Given the description of an element on the screen output the (x, y) to click on. 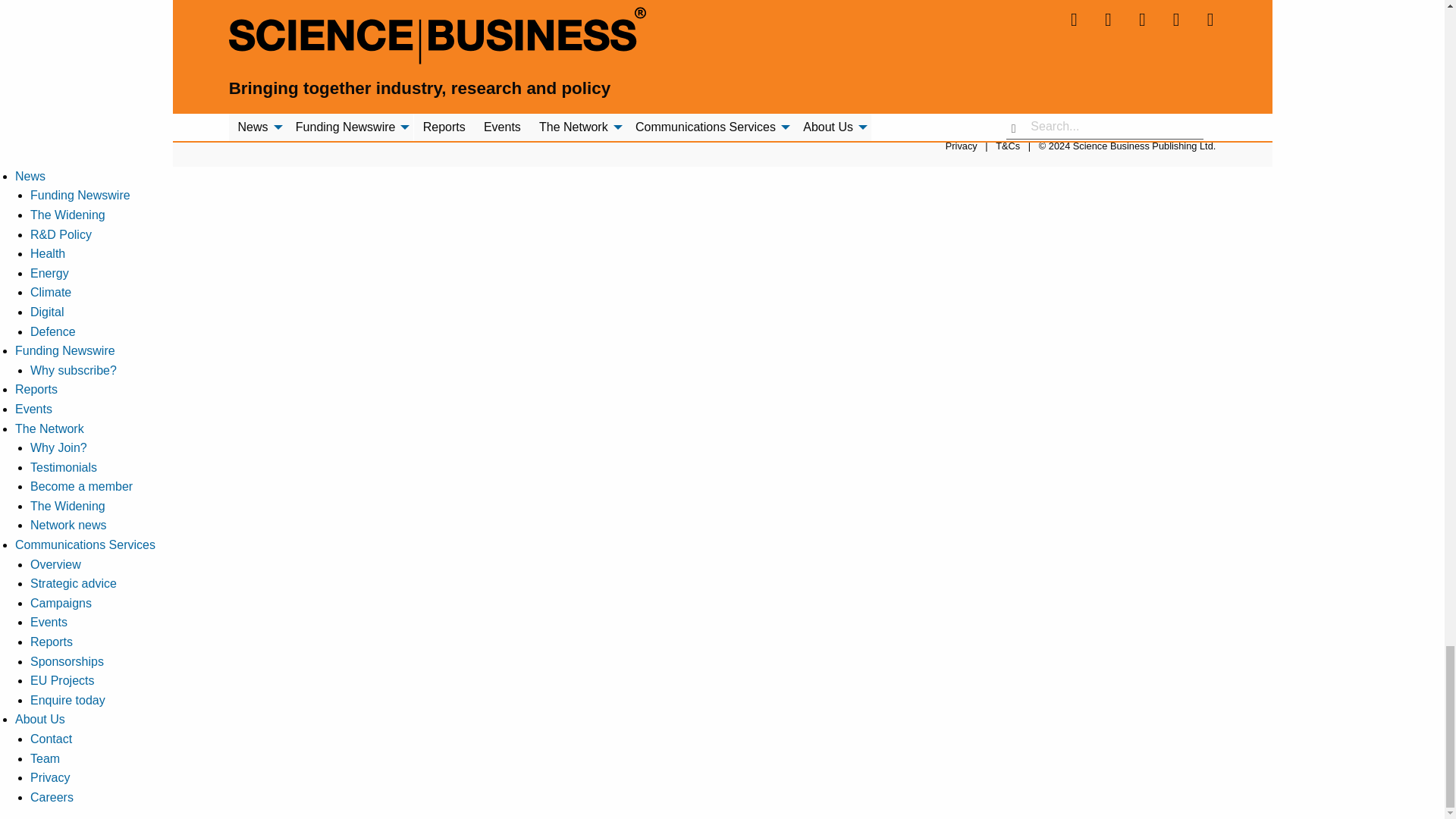
Subscription options (73, 369)
For the latest funding insights (64, 350)
The latest funding insights  (80, 195)
Home (1025, 85)
